Given the description of an element on the screen output the (x, y) to click on. 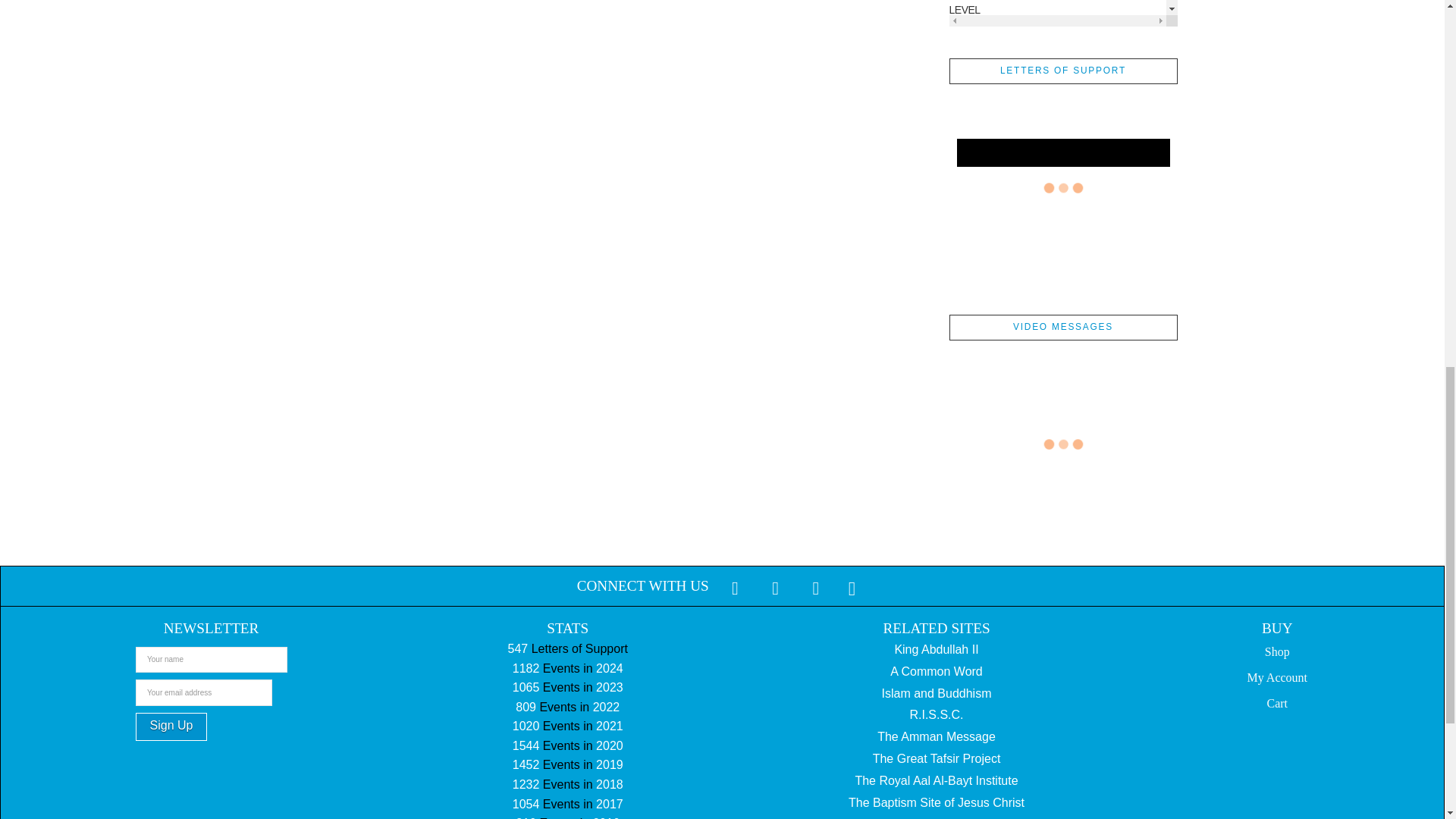
Permalink to: "Honour for Ghazi varsity dept" (1057, 609)
Permalink to: "The Interfaith Legacy of Pope Benedict" (1057, 325)
Sign Up (171, 726)
